Given the description of an element on the screen output the (x, y) to click on. 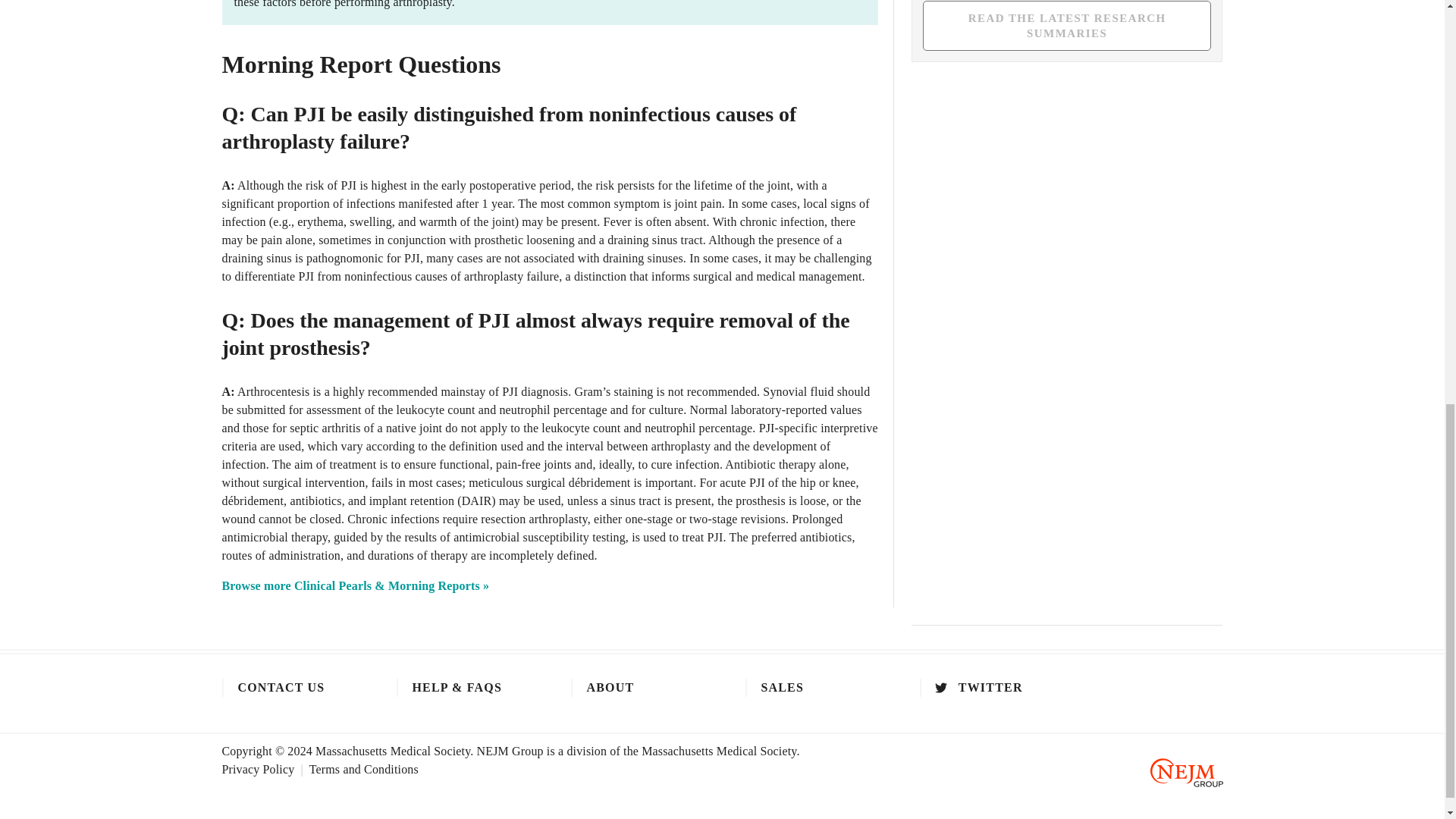
ABOUT (642, 687)
CONTACT US (293, 687)
Privacy Policy (264, 769)
Terms and Conditions (363, 768)
Contact Us (293, 687)
Privacy Policy (264, 769)
SALES (816, 687)
About (642, 687)
Sales (816, 687)
TWITTER (991, 687)
READ THE LATEST RESEARCH SUMMARIES (1067, 25)
Terms and Conditions (363, 768)
